Given the description of an element on the screen output the (x, y) to click on. 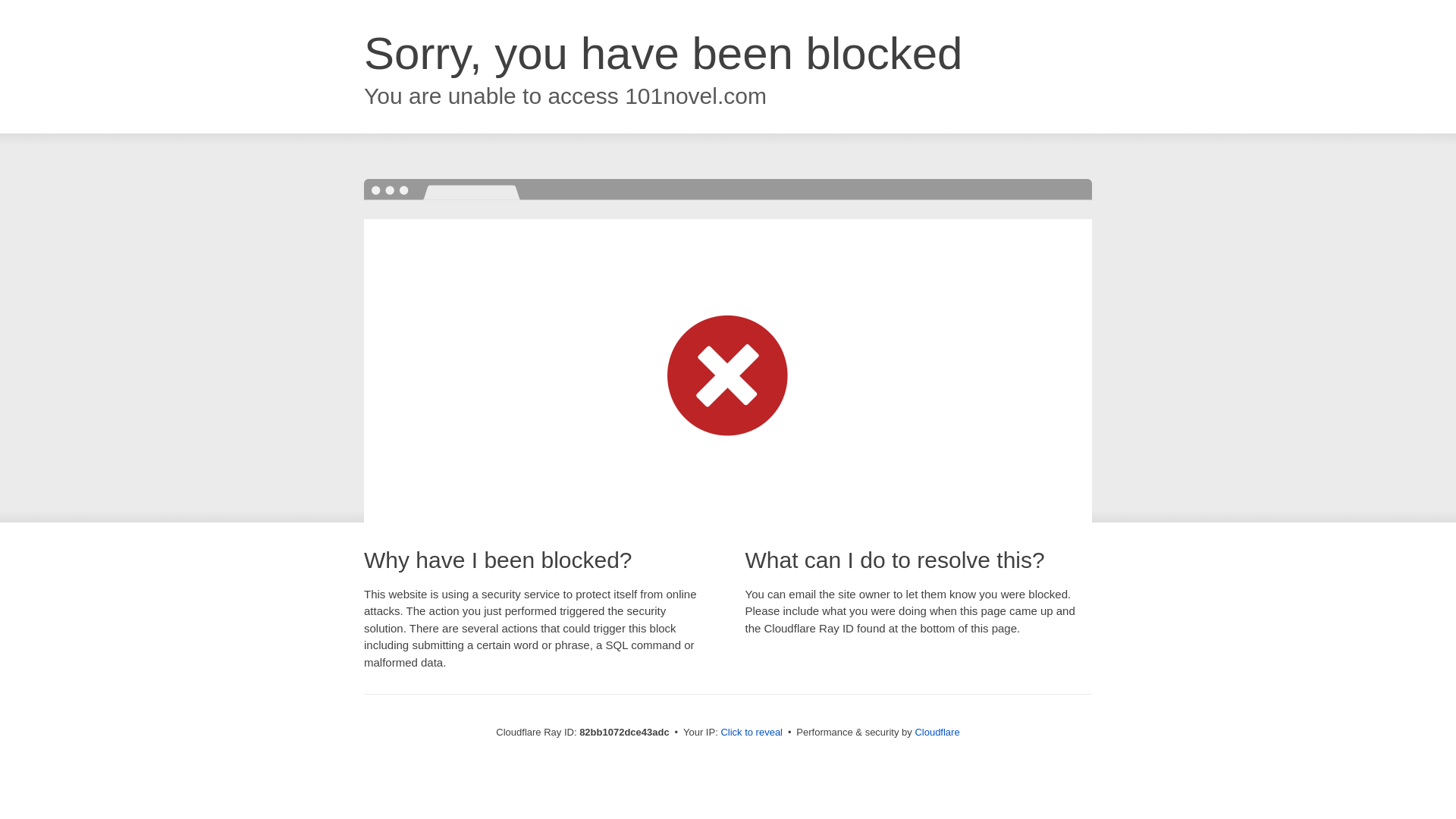
Cloudflare Element type: text (936, 731)
Click to reveal Element type: text (751, 732)
